Given the description of an element on the screen output the (x, y) to click on. 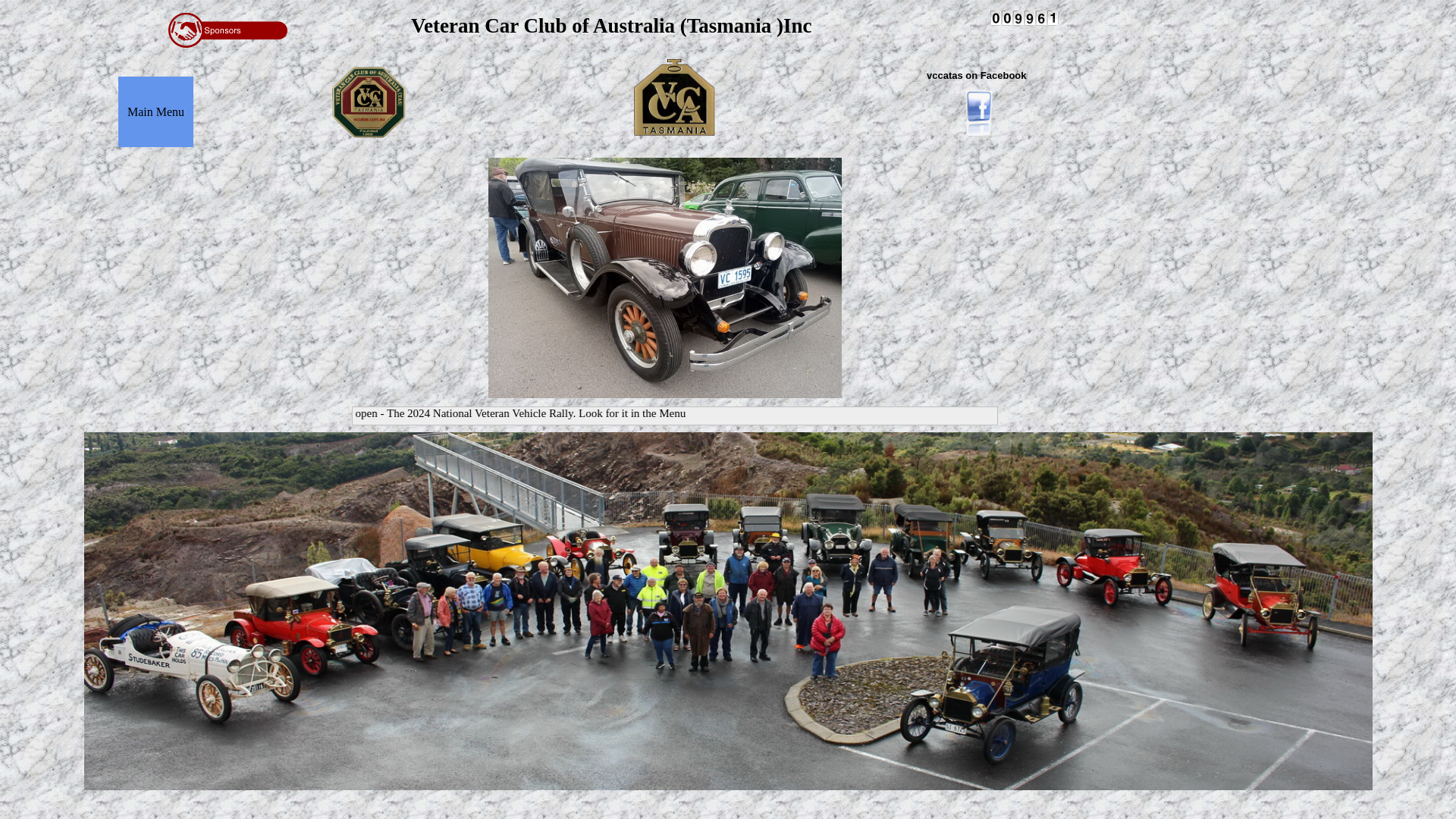
Main Menu Element type: text (155, 111)
Free Counter Element type: hover (1024, 17)
